Given the description of an element on the screen output the (x, y) to click on. 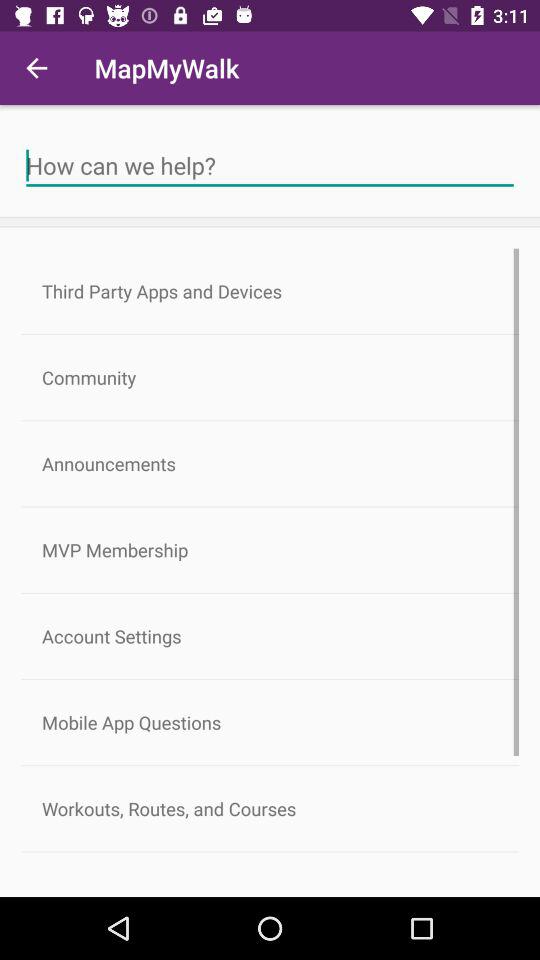
tap item to the left of the mapmywalk item (36, 68)
